Given the description of an element on the screen output the (x, y) to click on. 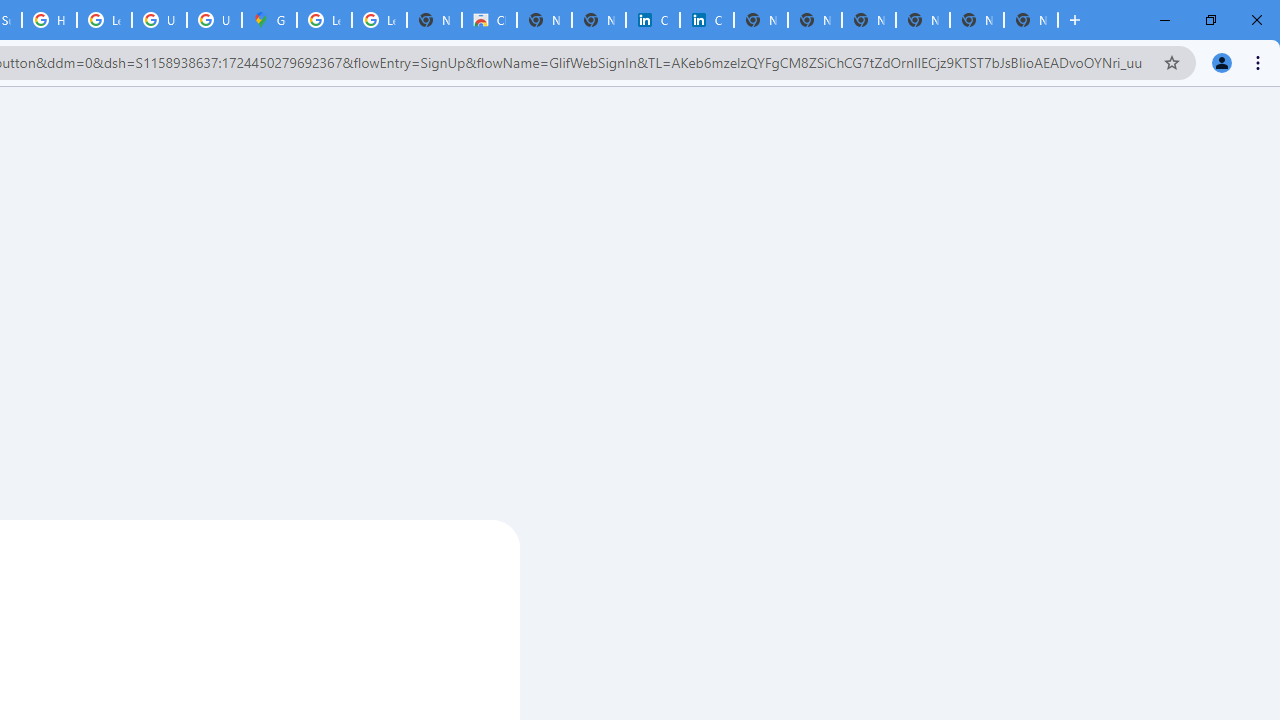
Cookie Policy | LinkedIn (706, 20)
New Tab (1030, 20)
